Given the description of an element on the screen output the (x, y) to click on. 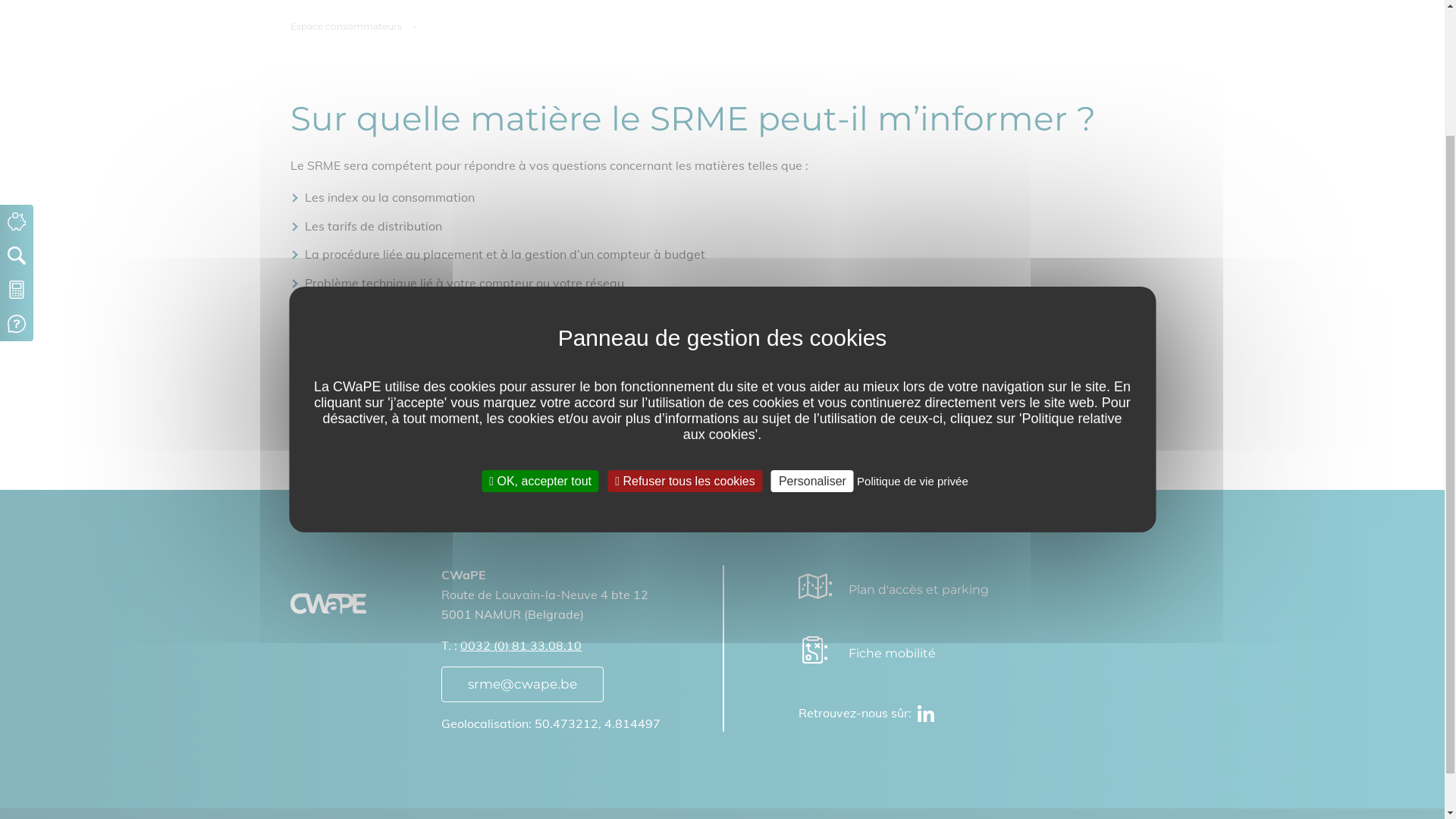
La CWaPE Element type: text (798, 27)
Espace consommateurs Element type: text (345, 185)
Une question? Un litige? Element type: text (1126, 107)
Ma facture, mon contrat Element type: text (519, 107)
Je suis un prosumer Element type: text (923, 107)
0032 (0) 81 33.08.10 Element type: text (520, 804)
FAQ Element type: text (948, 27)
Newsletters Element type: text (1090, 27)
Refuser tous les cookies Element type: text (684, 641)
Publications Element type: text (881, 27)
Personaliser Element type: text (812, 641)
CompaCWaPE Element type: text (316, 107)
Mon compteur, mon raccordement Element type: text (620, 107)
DE Element type: text (1237, 27)
Accueil  Element type: hover (335, 29)
OK, accepter tout Element type: text (540, 641)
Aller au contenu principal Element type: text (0, 0)
